Given the description of an element on the screen output the (x, y) to click on. 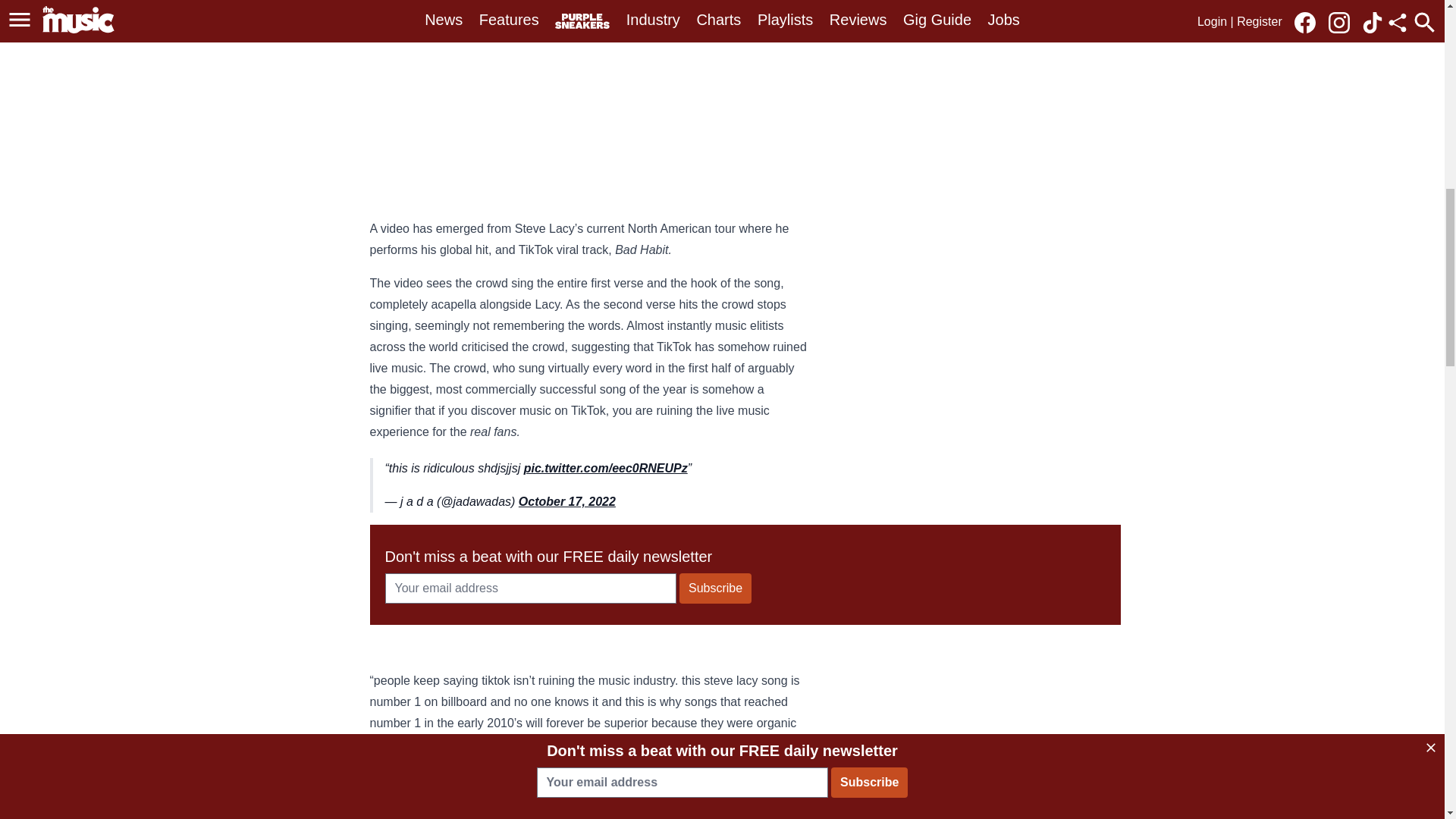
Subscribe (715, 588)
October 17, 2022 (566, 501)
